Given the description of an element on the screen output the (x, y) to click on. 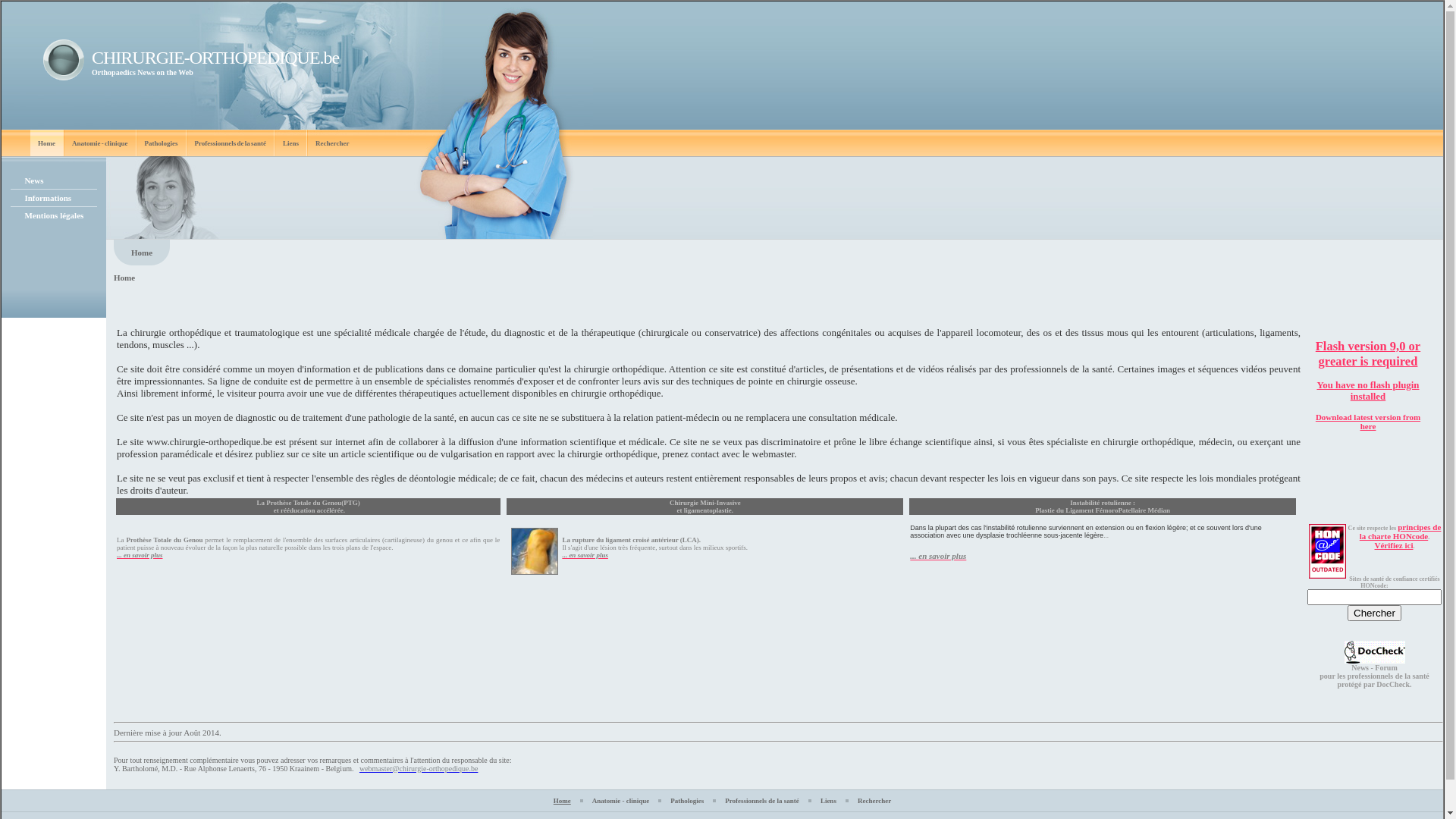
Liens Element type: text (290, 143)
Liens Element type: text (828, 799)
Informations Element type: text (47, 197)
Anatomie - clinique Element type: text (620, 799)
Anatomie - clinique Element type: text (100, 143)
Chercher Element type: text (1374, 613)
... en savoir plus Element type: text (938, 555)
... en savoir plus Element type: text (584, 553)
Pathologies Element type: text (686, 799)
Ce site respecte les principes de la charte HONcode de HON Element type: hover (1327, 551)
Rechercher Element type: text (331, 143)
News Element type: text (33, 180)
... en savoir plus Element type: text (139, 553)
Rechercher Element type: text (874, 799)
Home Element type: text (46, 143)
here Element type: text (1368, 425)
principes de la charte HONcode Element type: text (1400, 531)
Home Element type: text (562, 799)
webmaster@chirurgie-orthopedique.be Element type: text (418, 766)
Pathologies Element type: text (160, 143)
